Given the description of an element on the screen output the (x, y) to click on. 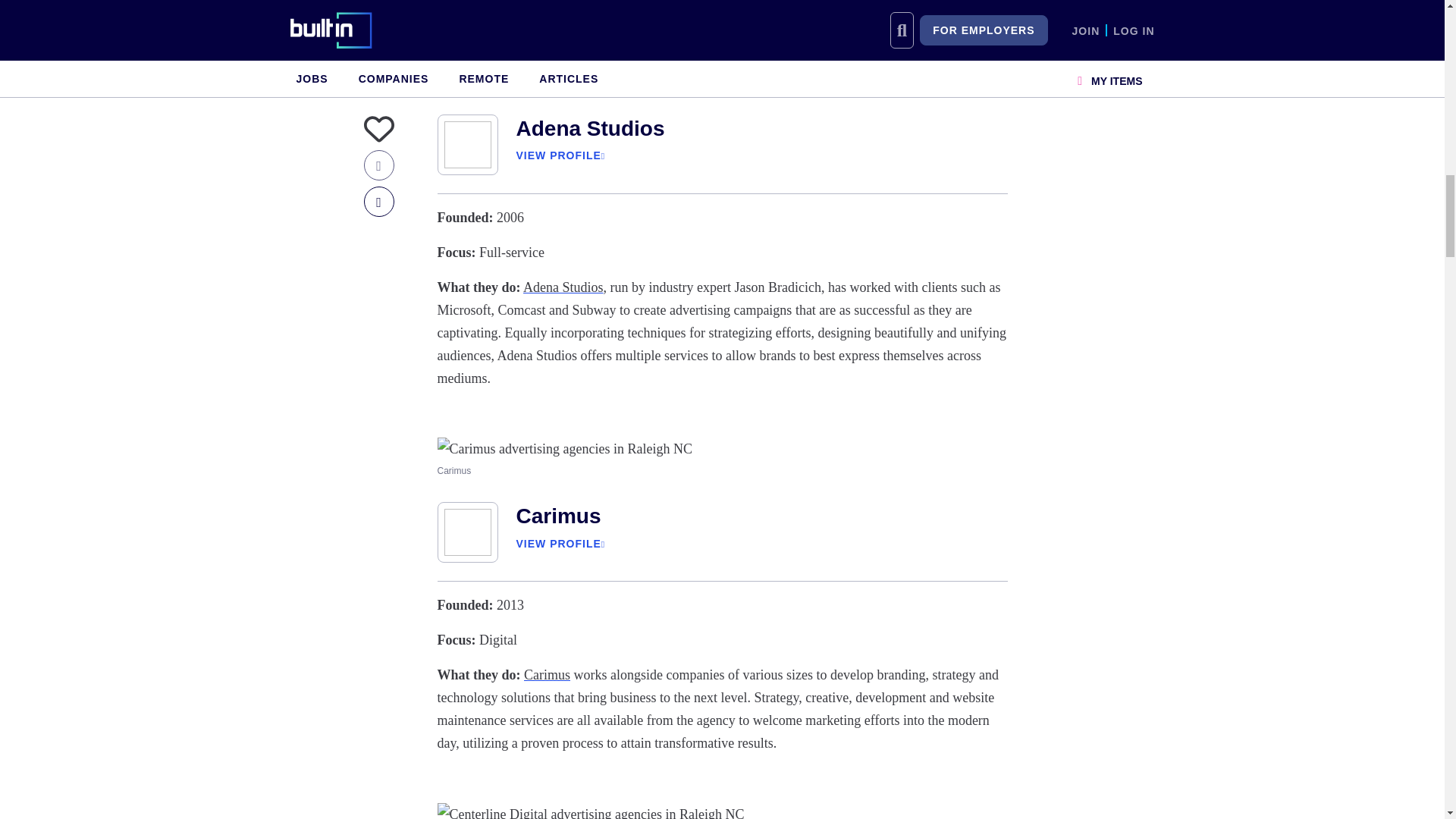
Adena Studios (589, 128)
VIEW PROFILE (557, 155)
Adena Studios (563, 287)
